Given the description of an element on the screen output the (x, y) to click on. 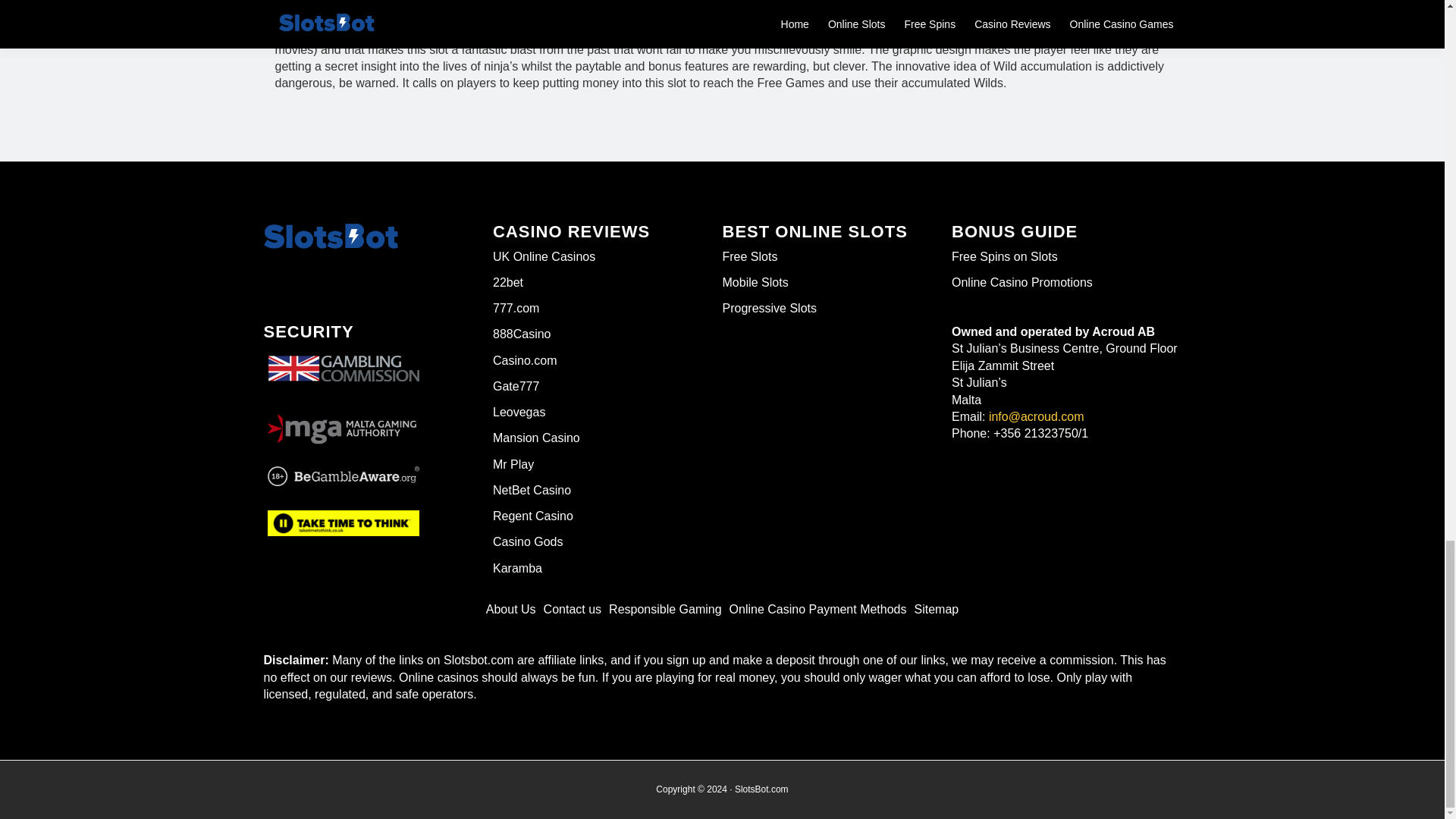
Malta Gaming Authority (343, 424)
UK Gambling Commission (343, 355)
BeGambleAware (343, 476)
Take Time to Think (343, 520)
